Given the description of an element on the screen output the (x, y) to click on. 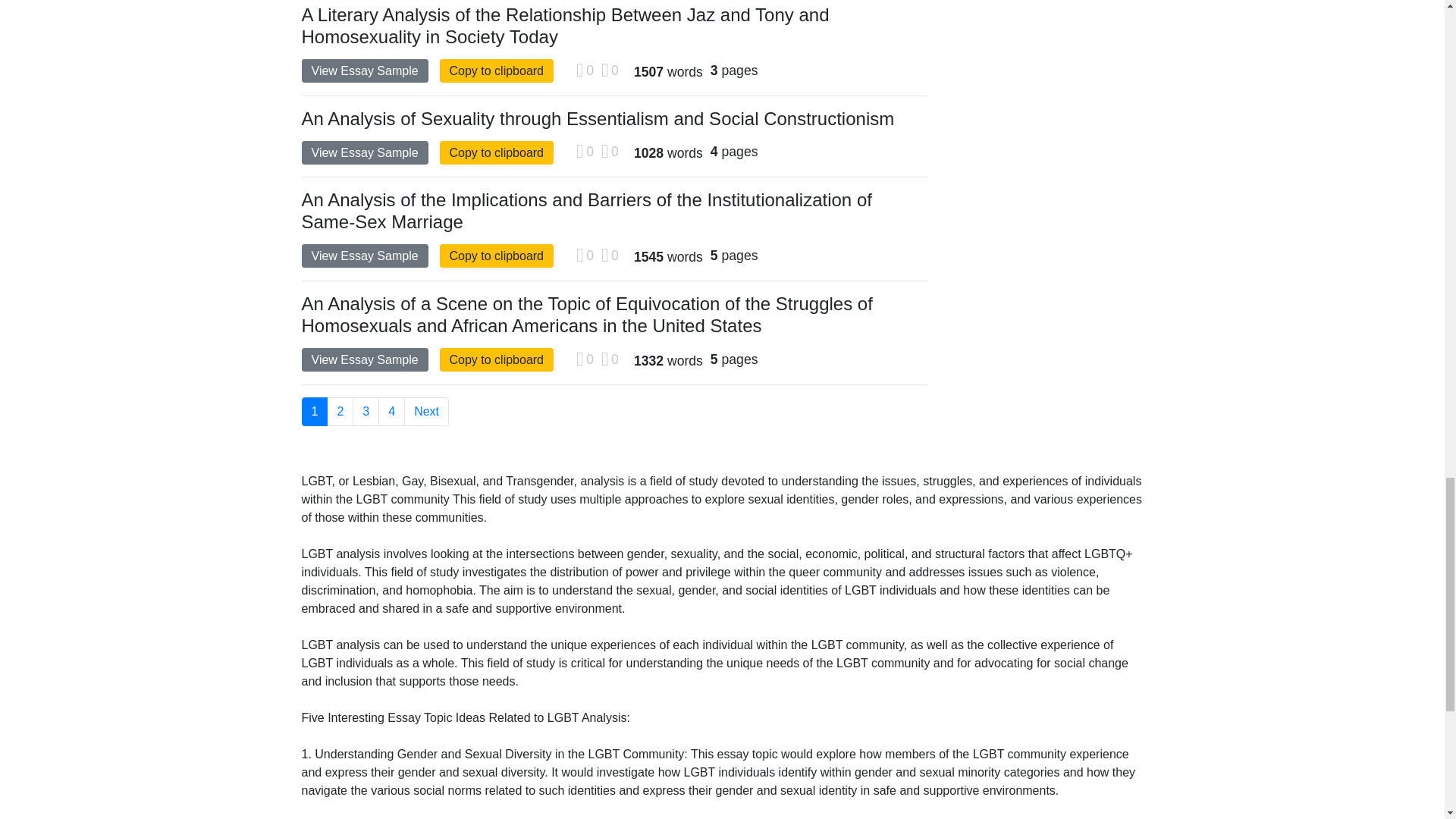
Copy to clipboard (496, 70)
View Essay Sample (364, 152)
View Essay Sample (364, 70)
